Given the description of an element on the screen output the (x, y) to click on. 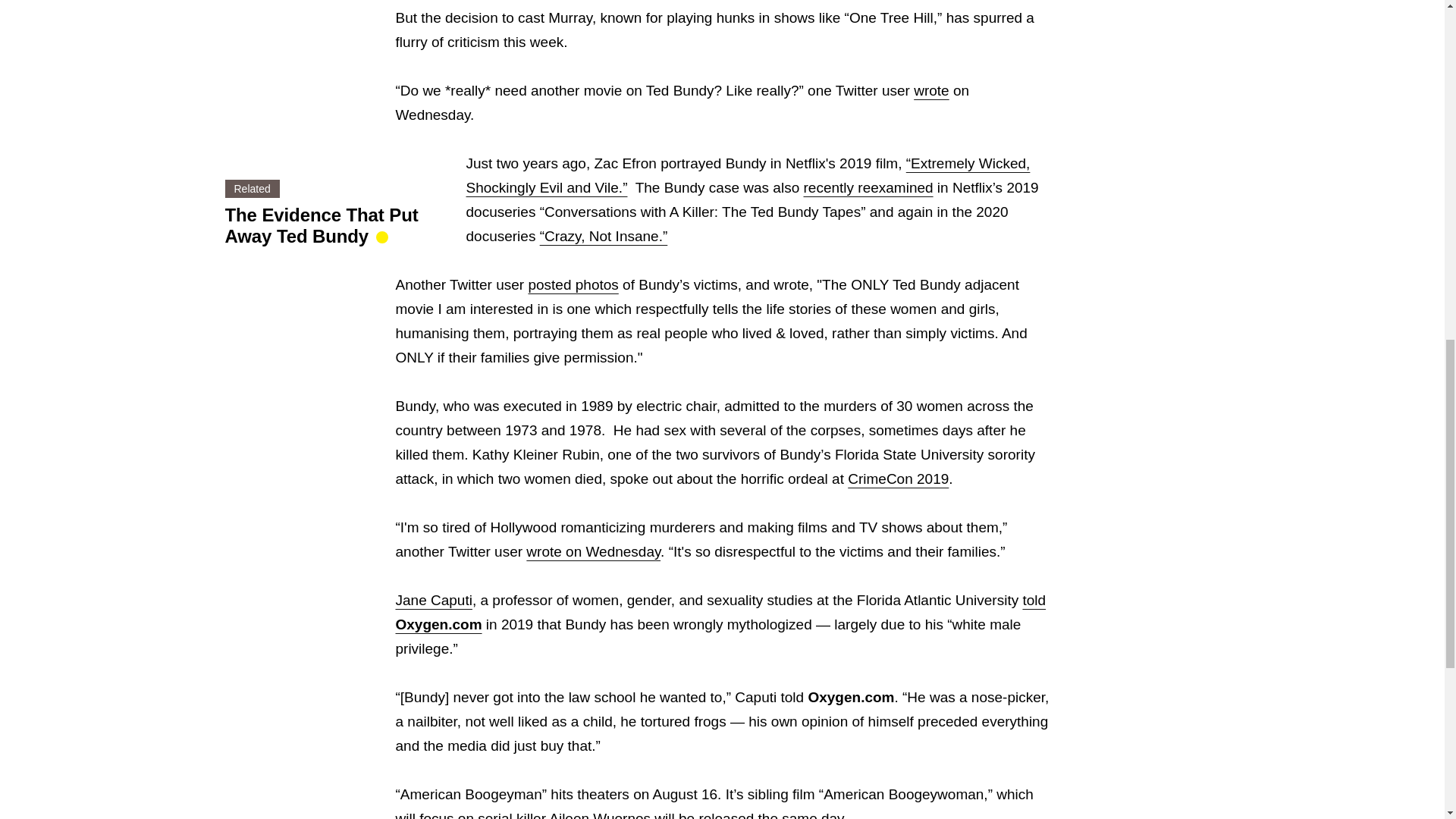
Jane Caputi (433, 600)
Aileen Wuornos (599, 814)
wrote (931, 90)
posted photos (572, 284)
told Oxygen.com (721, 612)
recently reexamined (868, 187)
CrimeCon 2019 (898, 478)
wrote on Wednesday (593, 551)
